Given the description of an element on the screen output the (x, y) to click on. 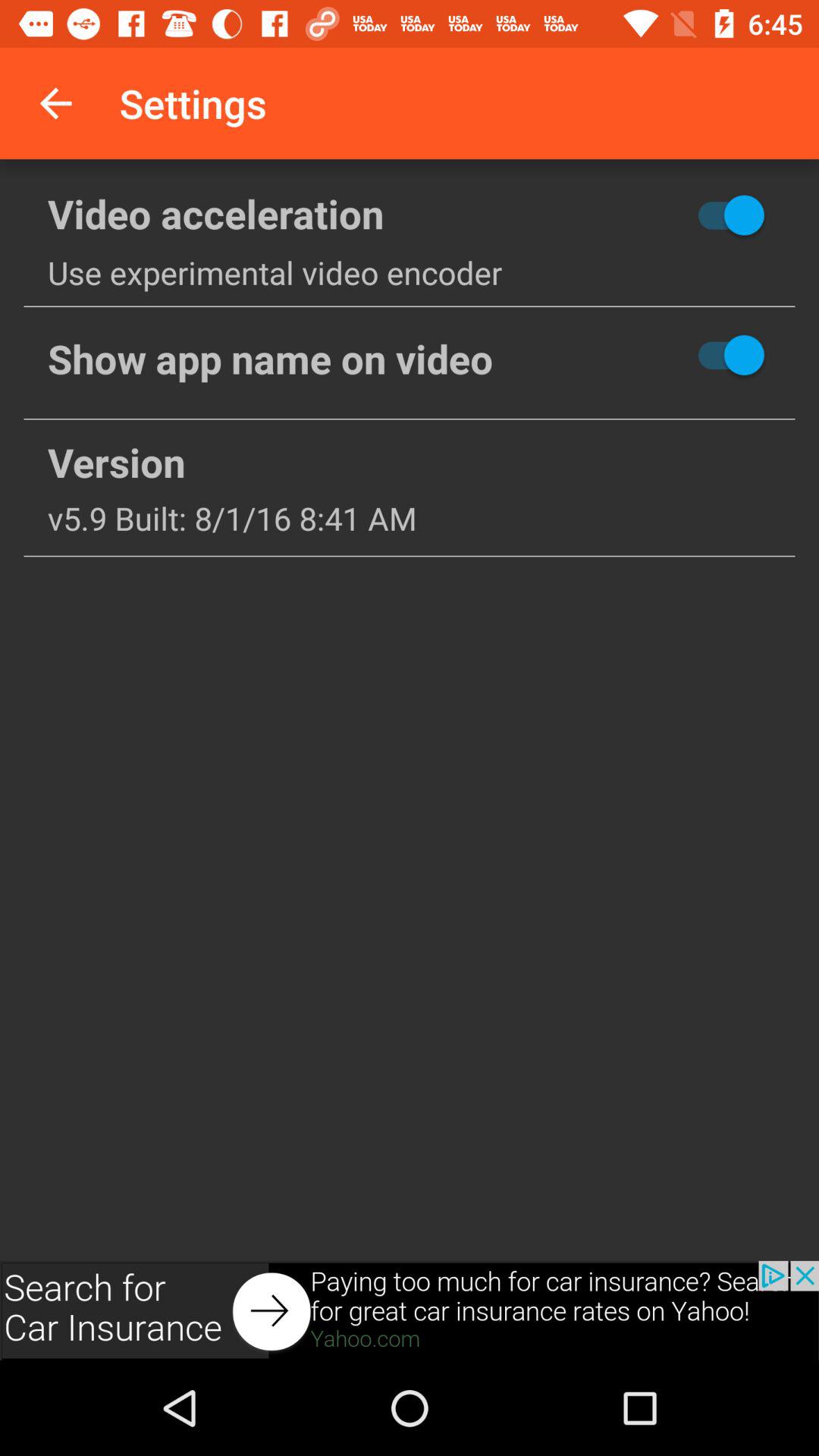
hide button (675, 354)
